Given the description of an element on the screen output the (x, y) to click on. 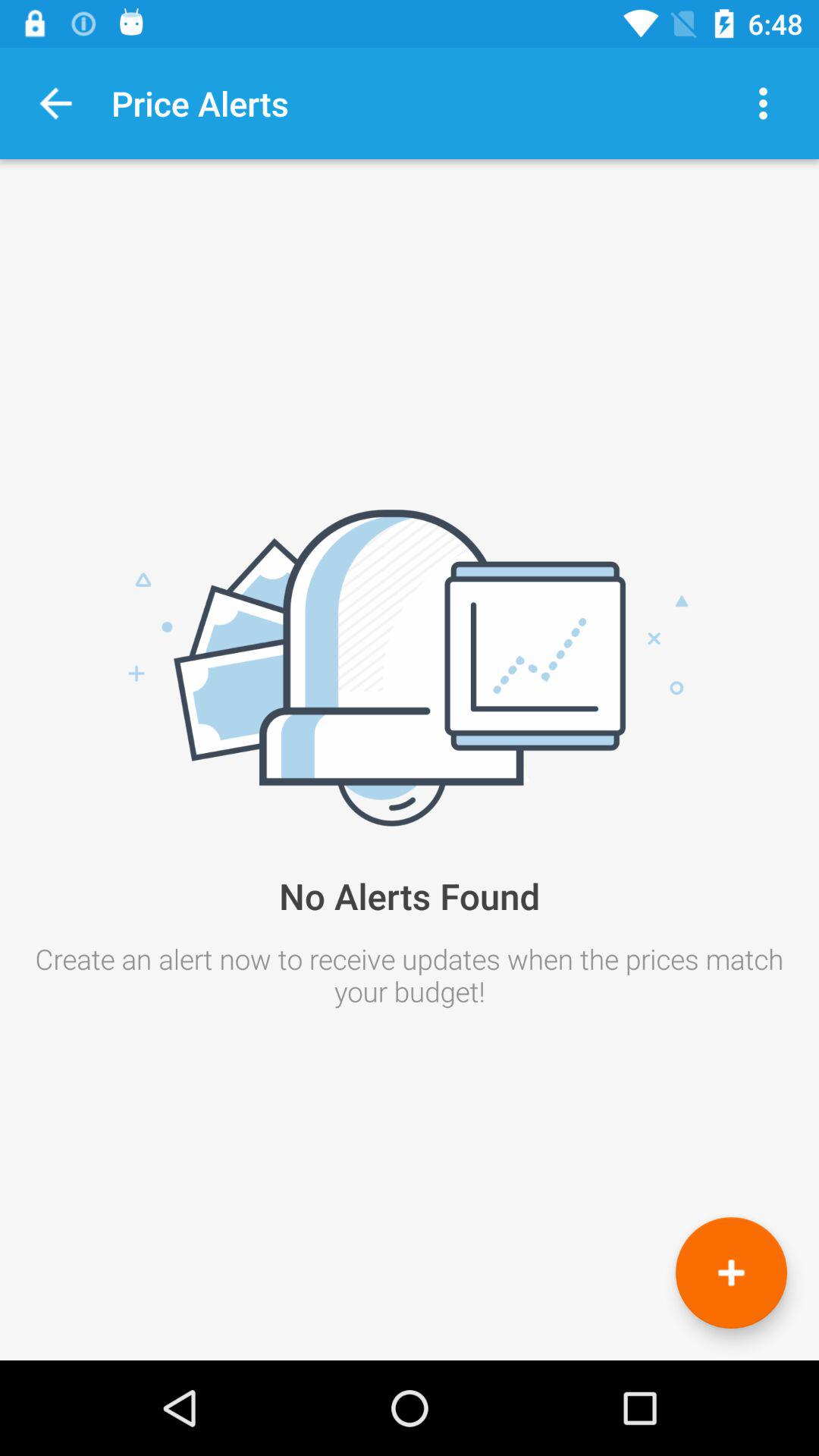
launch item at the bottom right corner (731, 1272)
